Given the description of an element on the screen output the (x, y) to click on. 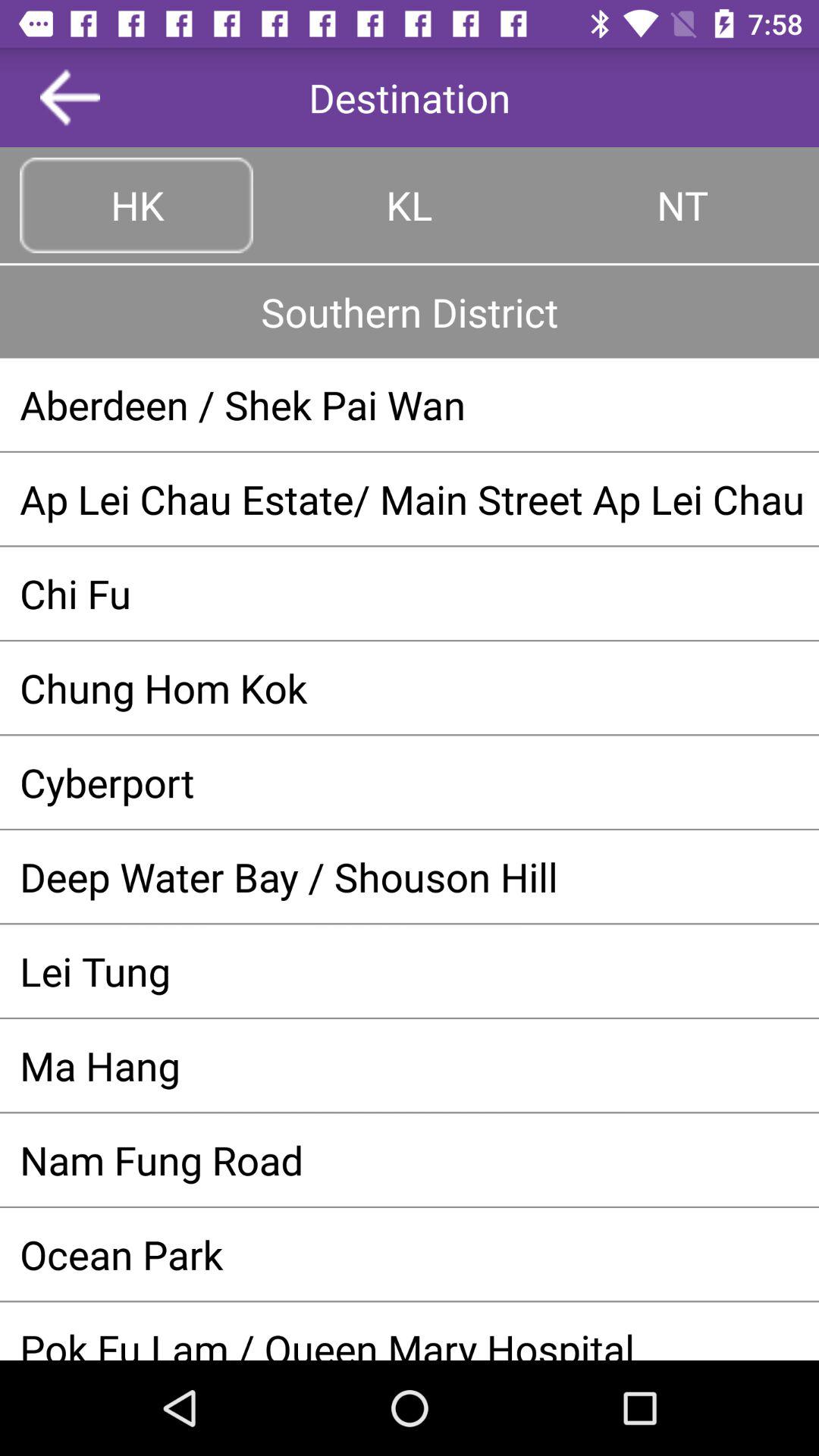
swipe until the kl item (409, 205)
